Given the description of an element on the screen output the (x, y) to click on. 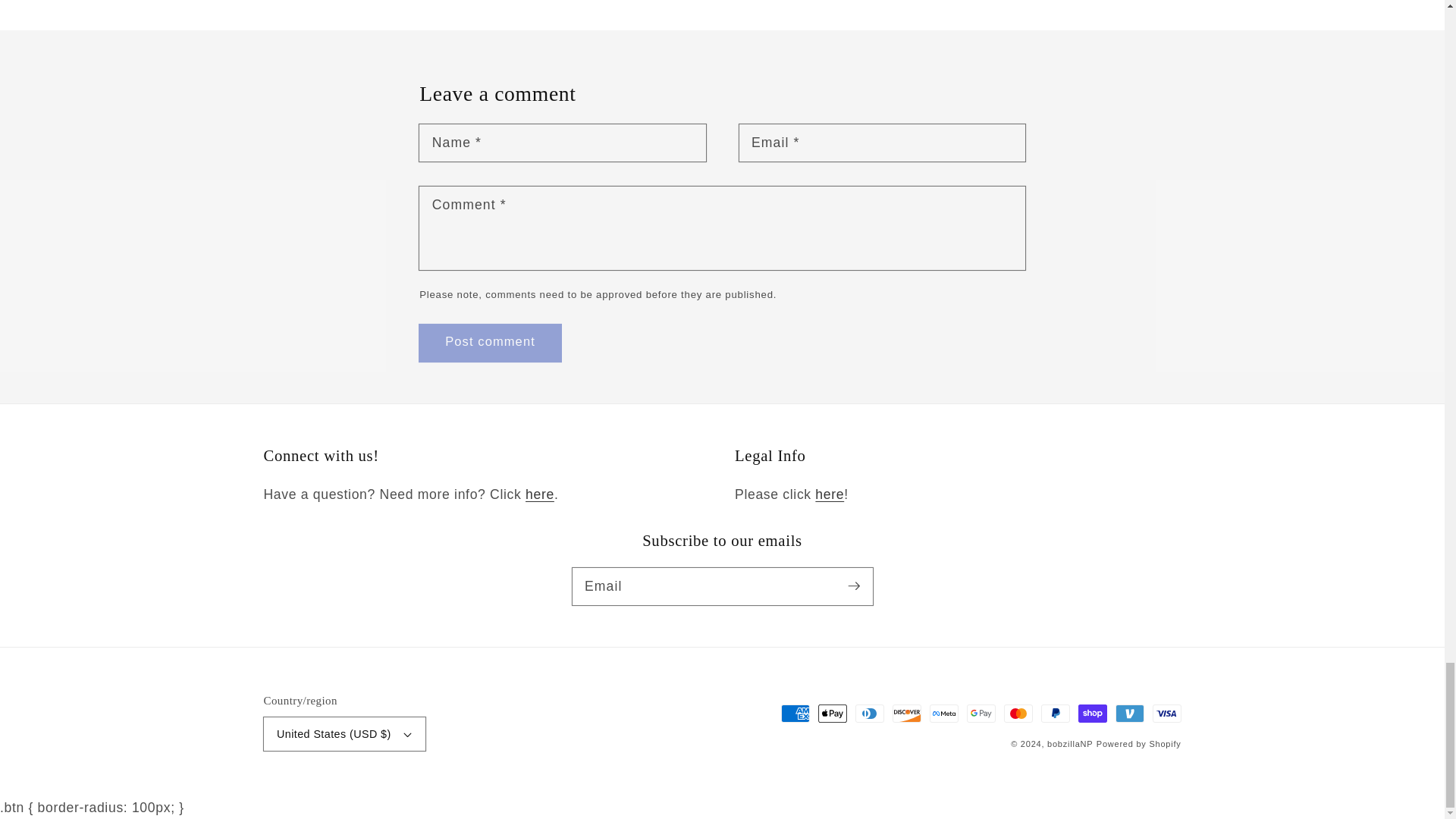
Anti-Money Laundering Policy (829, 494)
Contact (539, 494)
Post comment (489, 343)
